Given the description of an element on the screen output the (x, y) to click on. 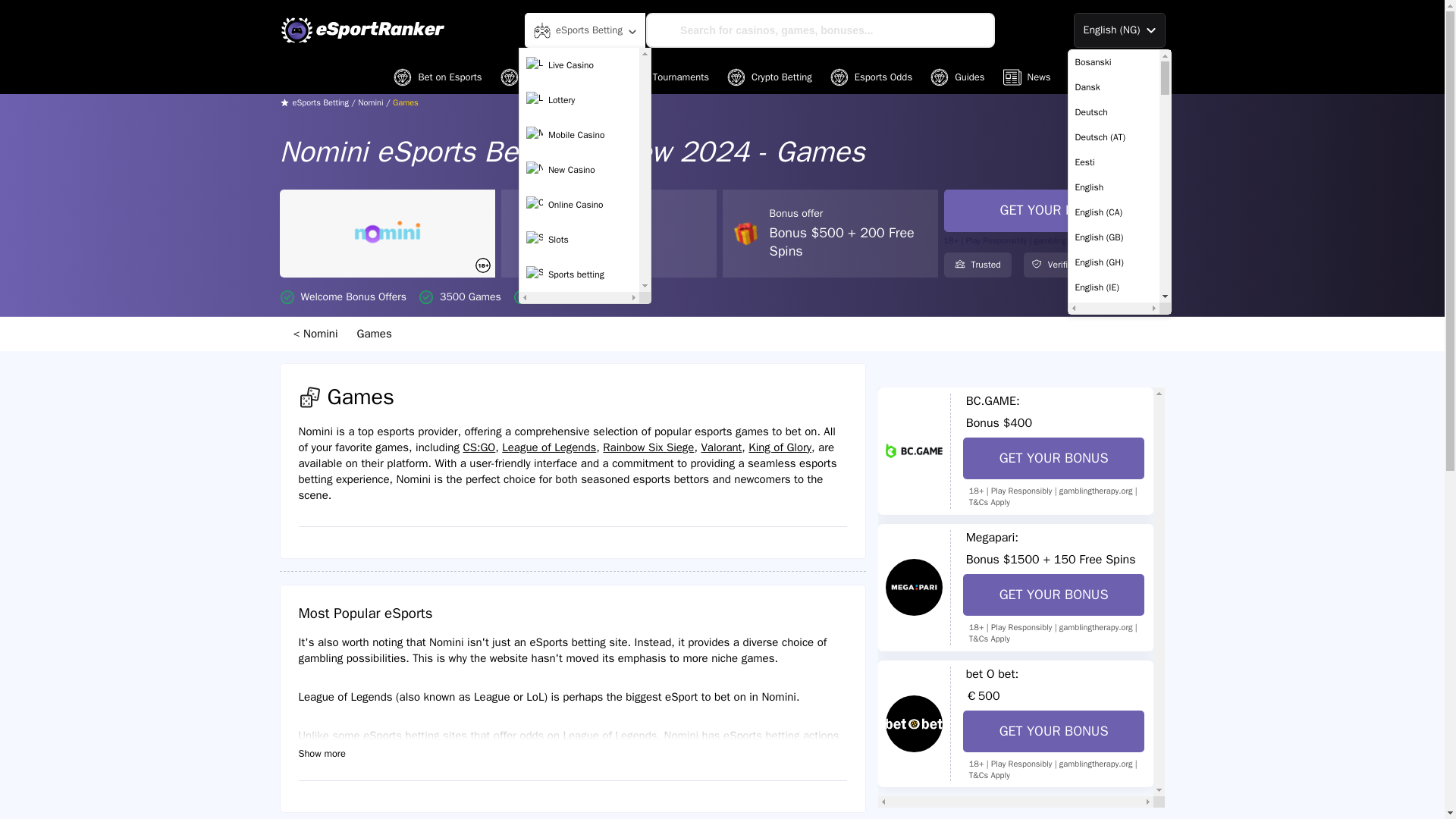
Slots (579, 239)
Eesti (1113, 162)
Online Casino (579, 204)
English (1113, 187)
Deutsch (1113, 112)
Bosanski (1113, 62)
Lottery (579, 99)
Live Casino (579, 64)
Games (376, 333)
Mobile Casino (579, 134)
Dansk (1113, 87)
Hrvatski (1113, 809)
Sports betting (579, 274)
New Casino (579, 169)
